Given the description of an element on the screen output the (x, y) to click on. 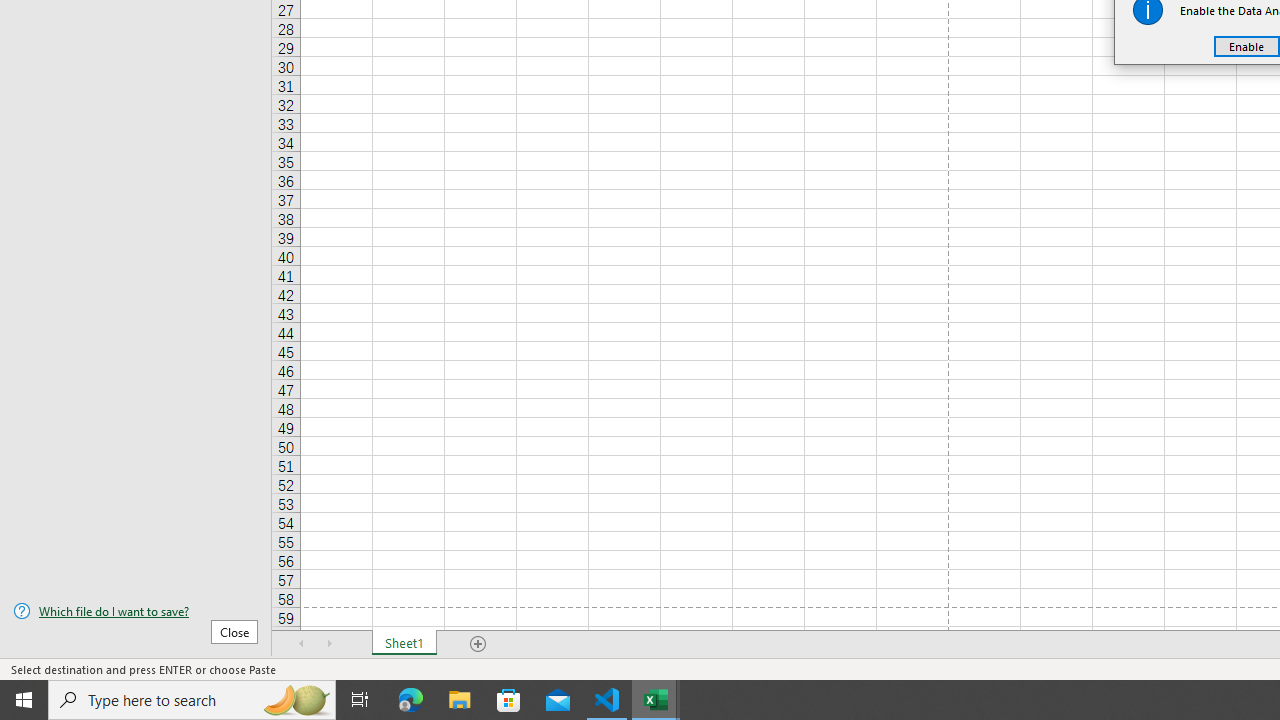
Task View (359, 699)
